Given the description of an element on the screen output the (x, y) to click on. 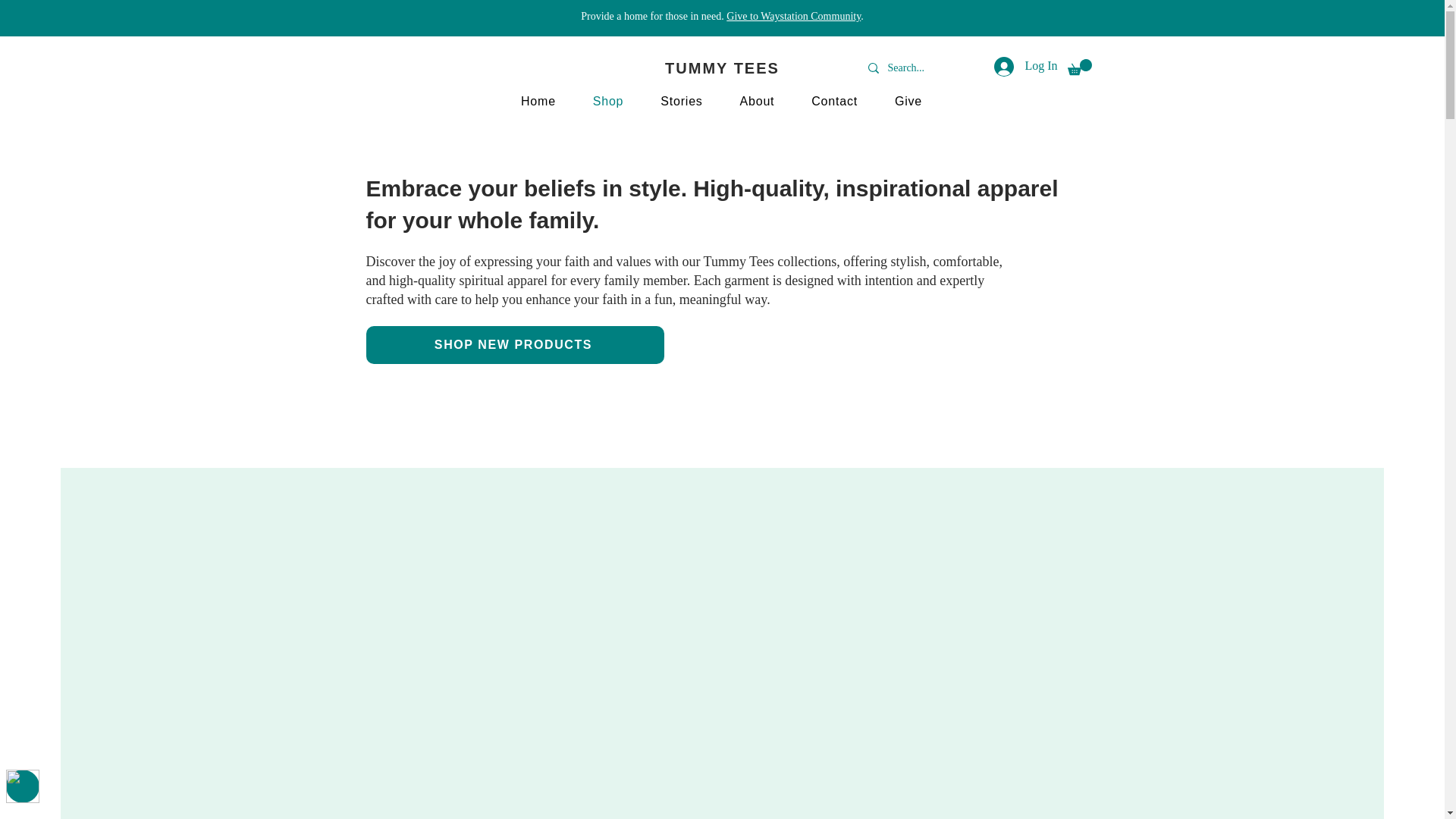
Log In (1025, 66)
Shop (607, 101)
SHOP NEW PRODUCTS (514, 344)
Accessibility Menu (22, 786)
Home (537, 101)
Give to Waystation Community (793, 16)
TUMMY TEES (721, 67)
About (756, 101)
Give (908, 101)
Contact (834, 101)
